Given the description of an element on the screen output the (x, y) to click on. 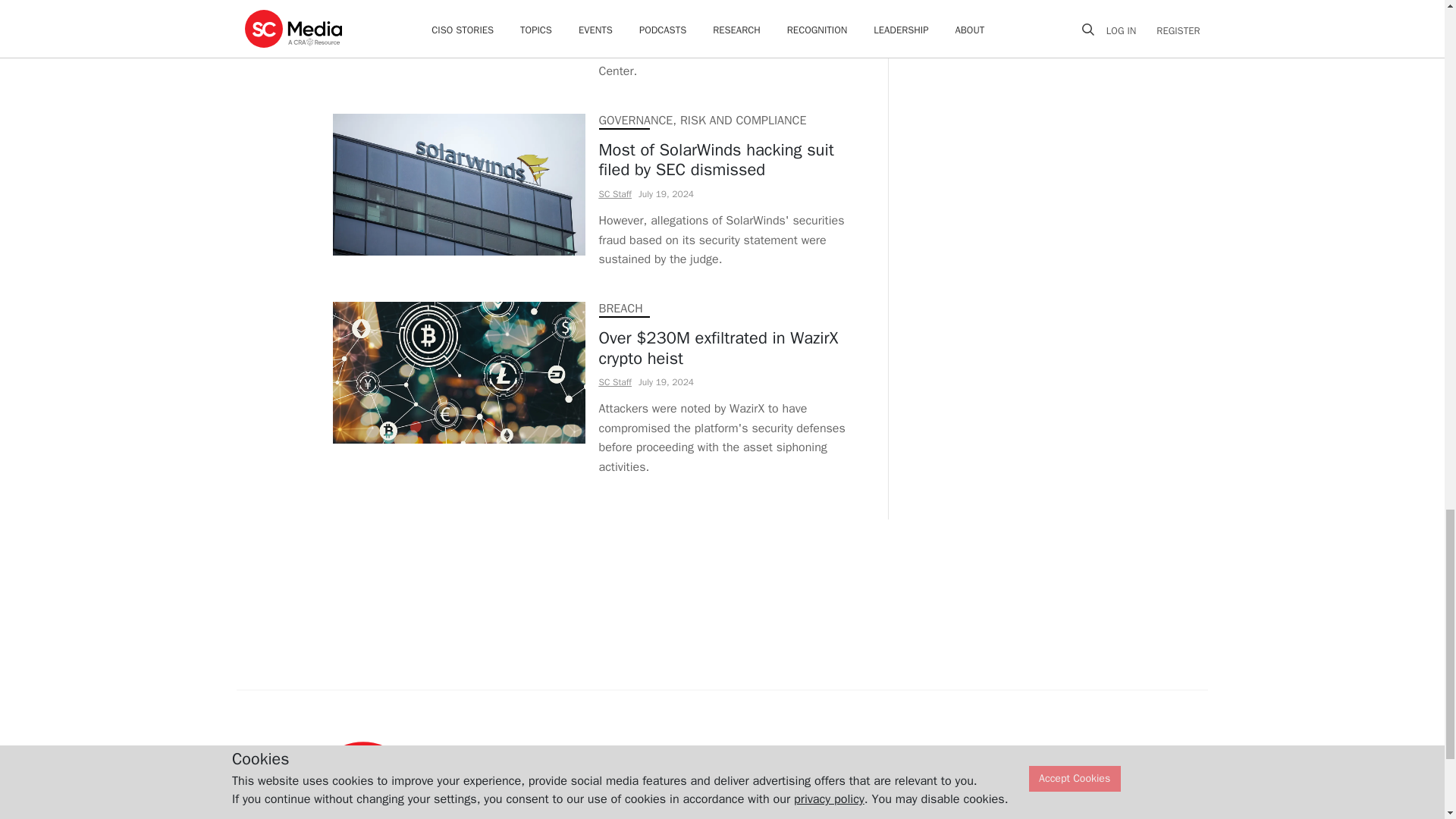
BREACH (620, 308)
SC Media (362, 794)
SC Staff (614, 381)
GOVERNANCE, RISK AND COMPLIANCE (702, 120)
SC Media (612, 792)
Most of SolarWinds hacking suit filed by SEC dismissed (729, 160)
SC Staff (614, 193)
